Given the description of an element on the screen output the (x, y) to click on. 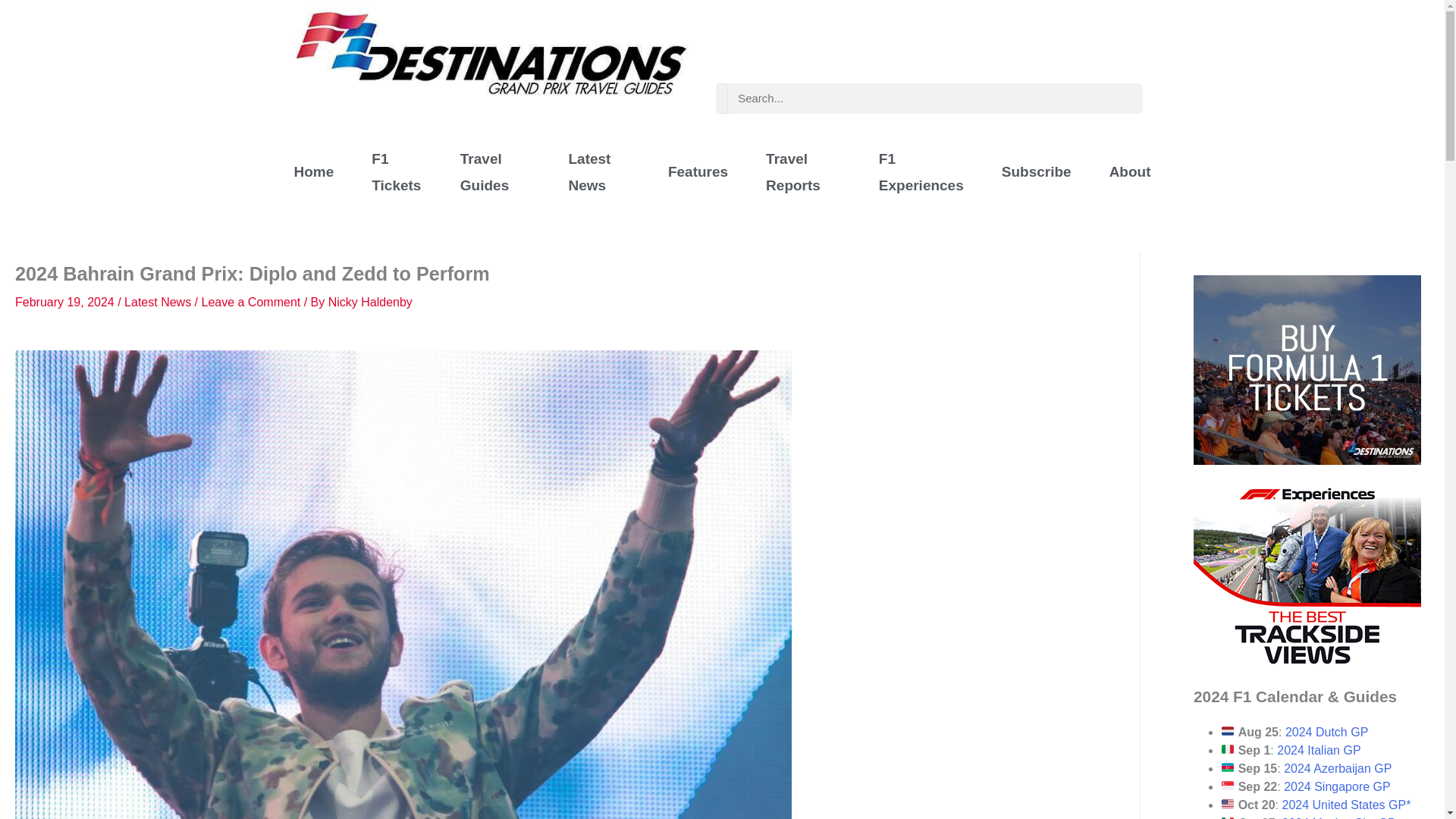
2024 Italian GP (1317, 749)
Leave a Comment (249, 301)
2024 Azerbaijan GP (1337, 768)
View all posts by Nicky Haldenby (370, 301)
About (1130, 171)
Latest News (156, 301)
Travel Guides (495, 172)
Subscribe (1036, 171)
F1 Experiences (921, 172)
Home (313, 171)
